Given the description of an element on the screen output the (x, y) to click on. 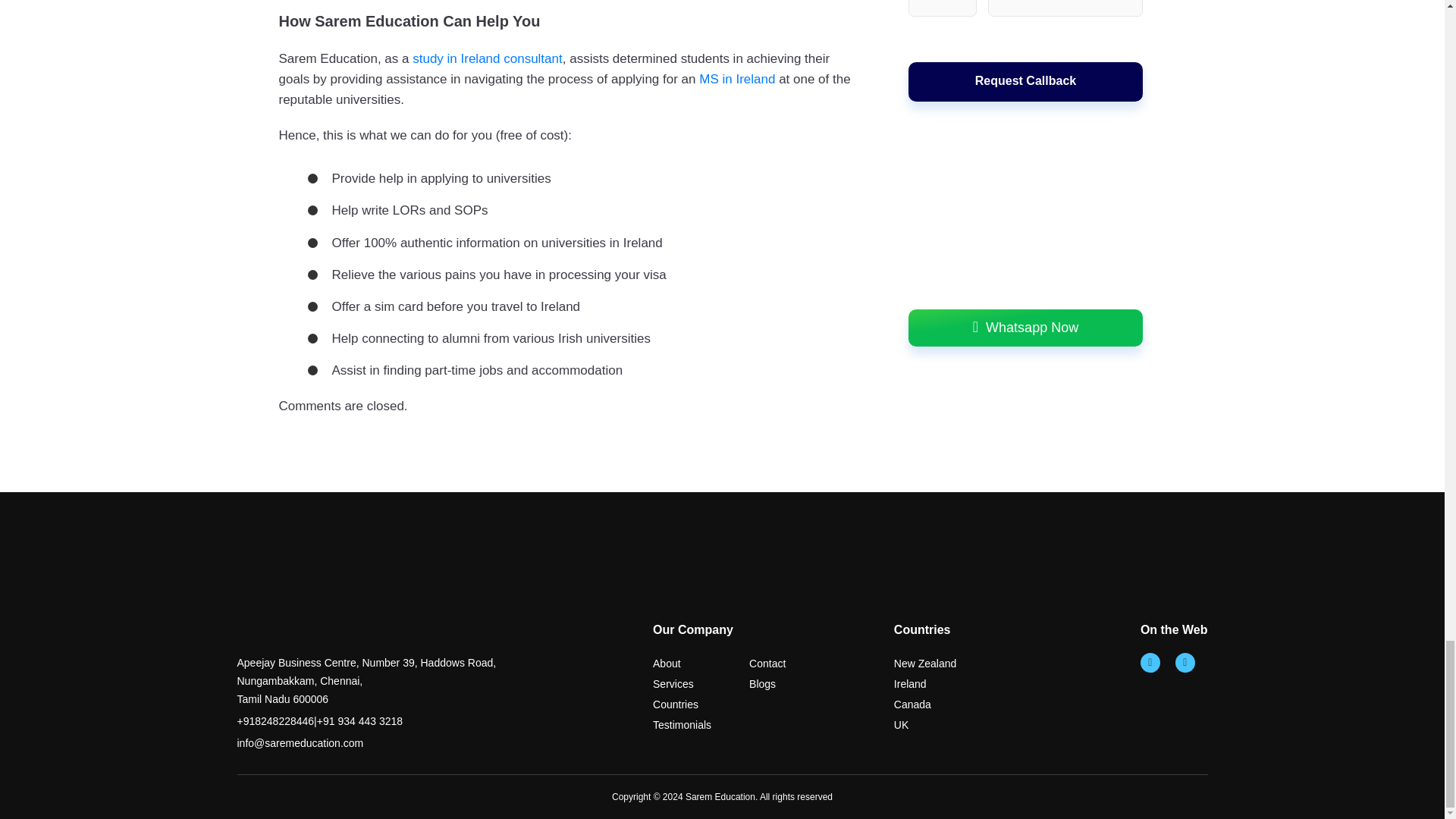
About (666, 663)
MS in Ireland (736, 79)
Services (673, 684)
study in Ireland consultant (487, 58)
Countries (675, 704)
Canada (912, 704)
New Zealand (924, 663)
Testimonials (681, 725)
Contact (767, 663)
Ireland (909, 684)
Blogs (762, 684)
